Given the description of an element on the screen output the (x, y) to click on. 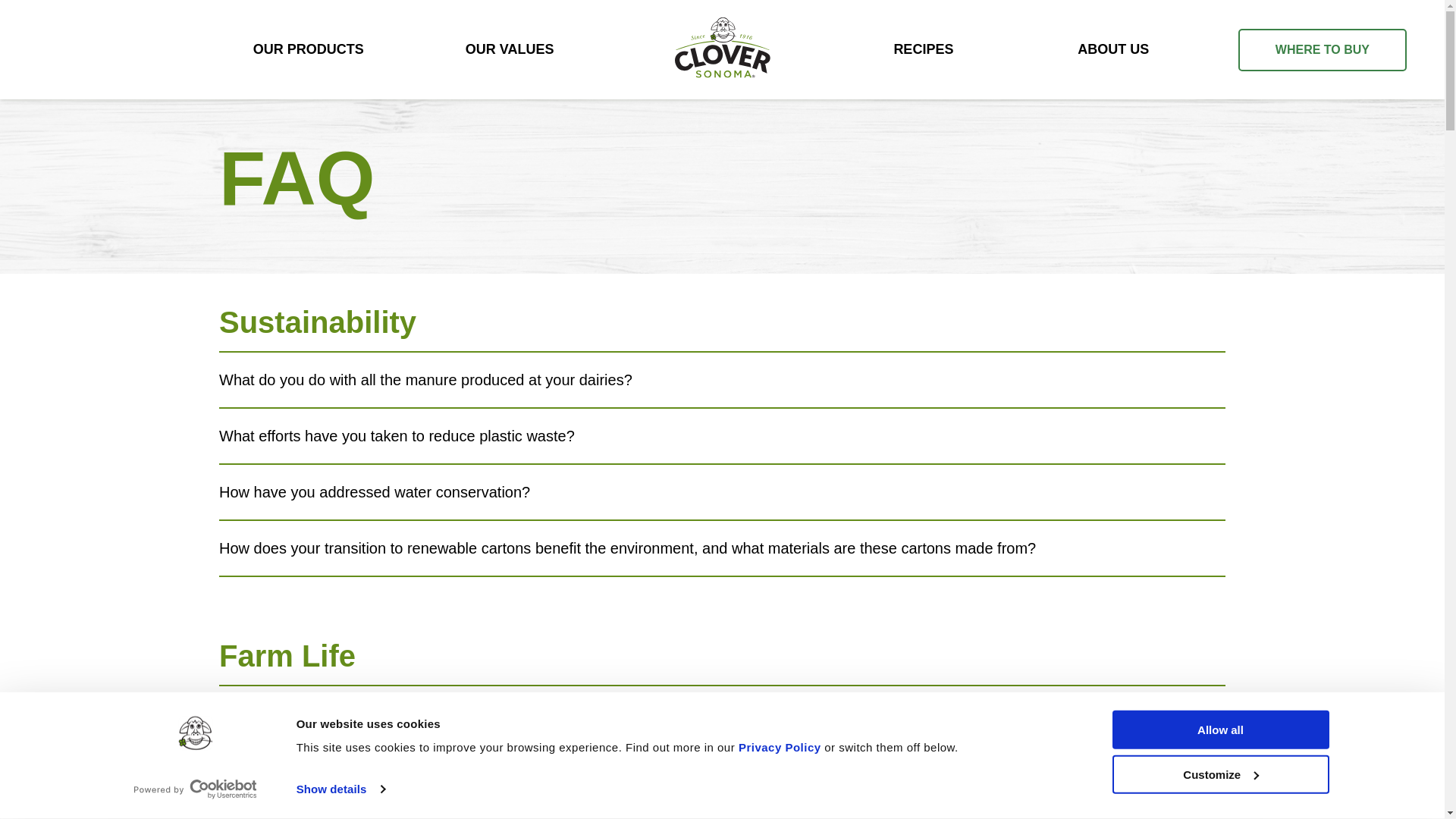
Show details (340, 789)
Privacy Policy (779, 747)
